Given the description of an element on the screen output the (x, y) to click on. 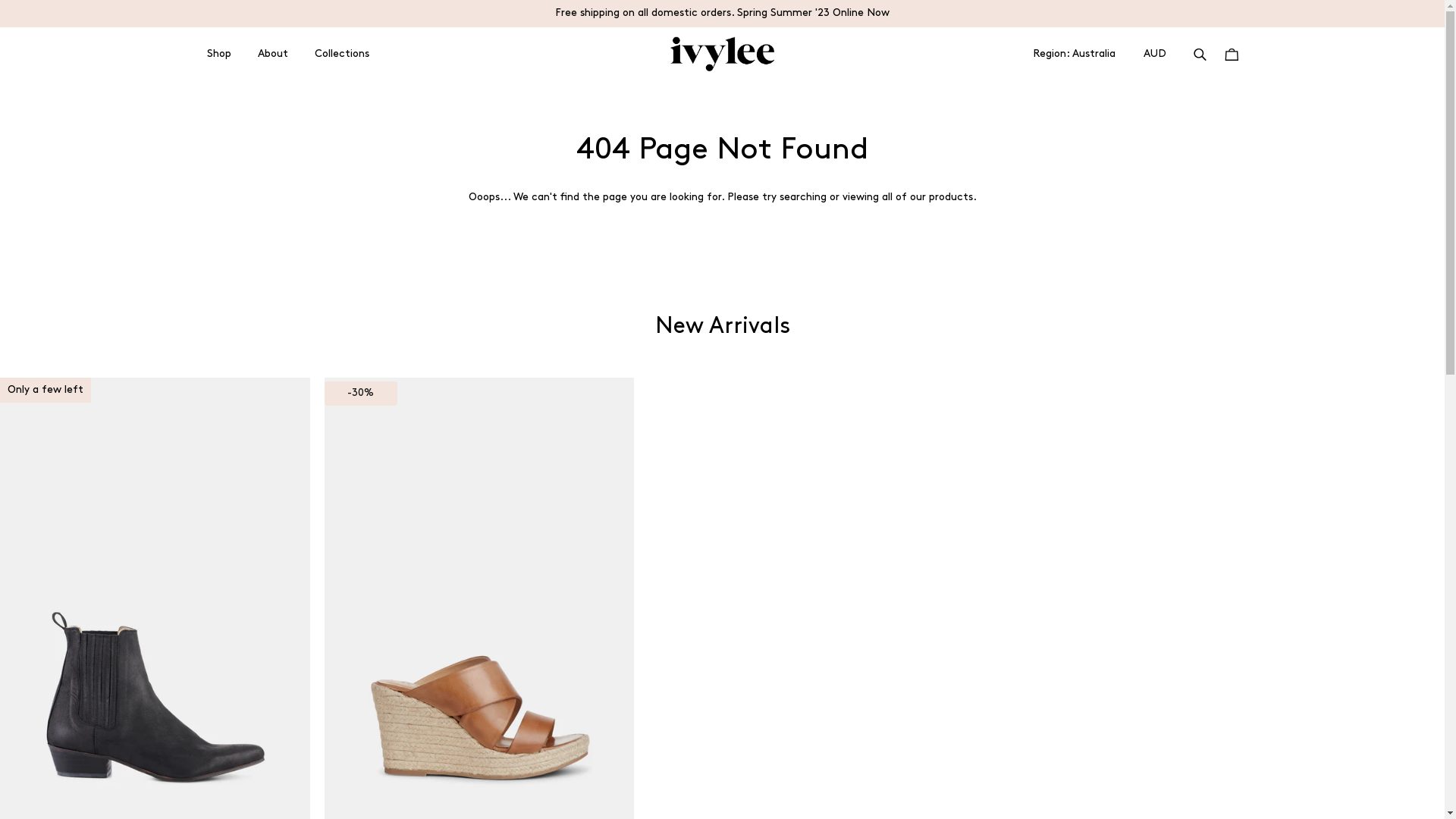
Shop Element type: text (218, 54)
Collections Element type: text (340, 54)
About Element type: text (272, 54)
